Given the description of an element on the screen output the (x, y) to click on. 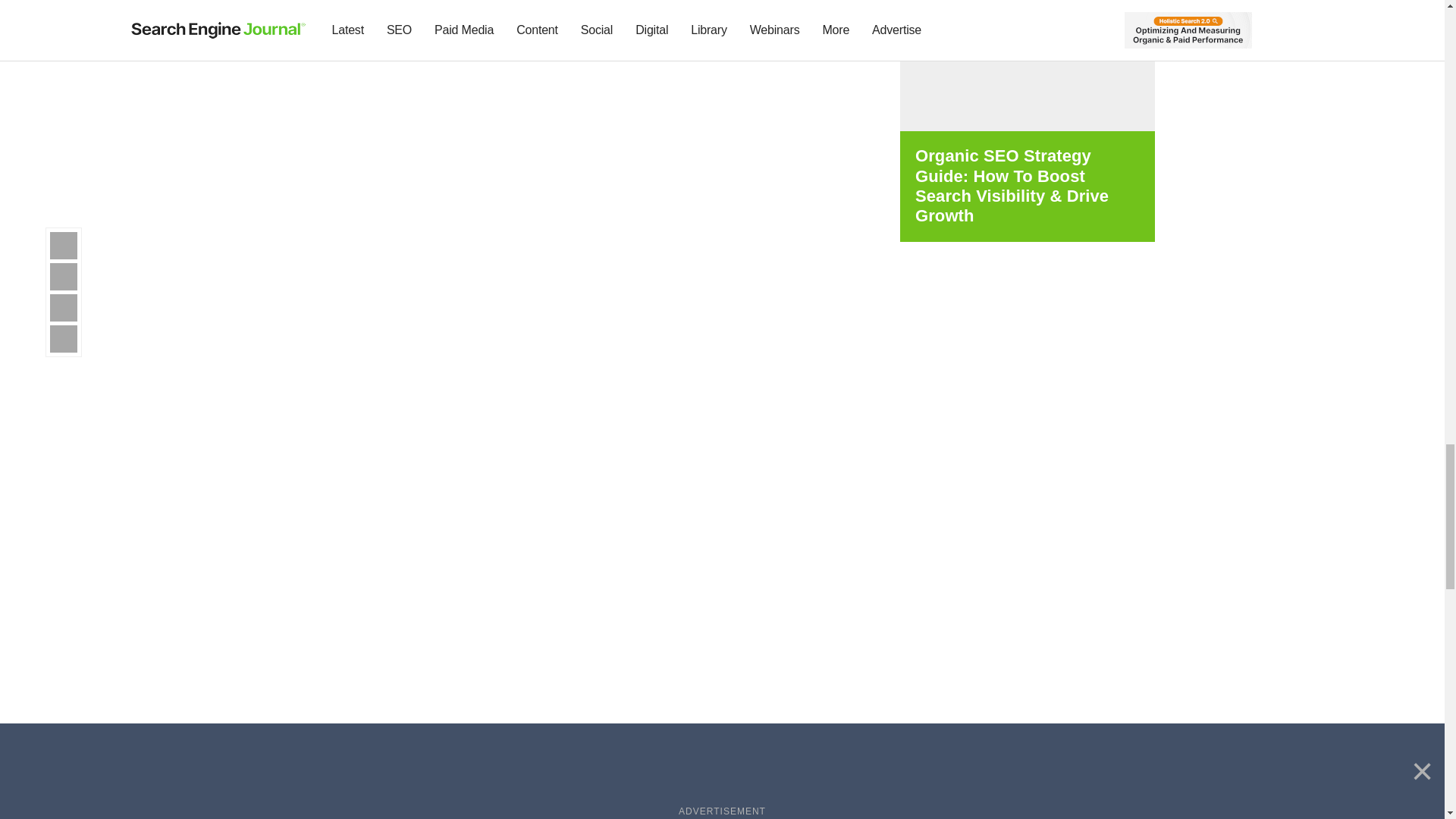
Read the Article (343, 13)
Read the Article (553, 5)
